Given the description of an element on the screen output the (x, y) to click on. 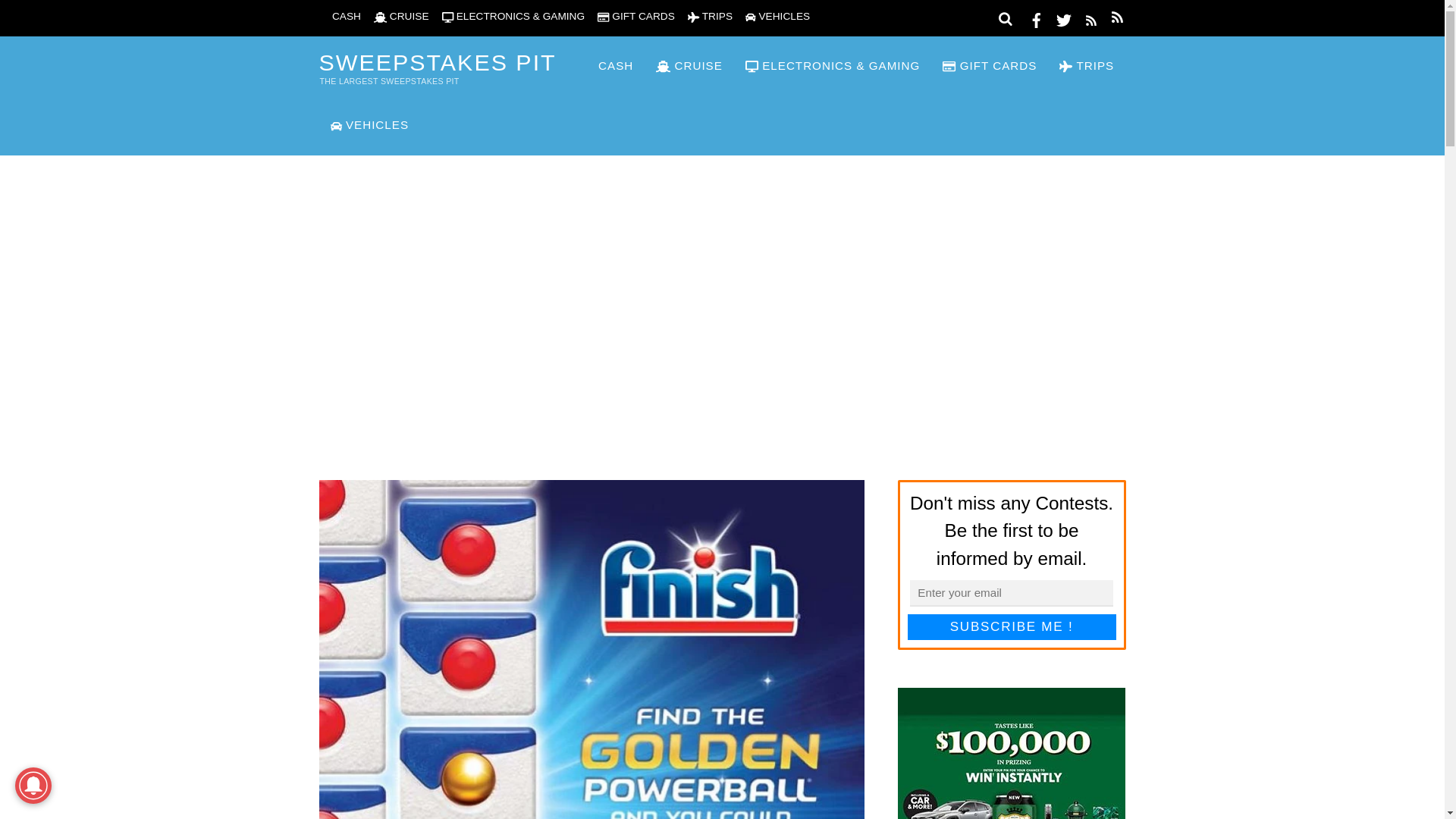
SUBSCRIBE ME ! (1011, 626)
CASH (608, 66)
TRIPS (709, 16)
CASH (338, 16)
TRIPS (1086, 66)
VEHICLES (777, 16)
CRUISE (689, 66)
CRUISE (401, 16)
